Given the description of an element on the screen output the (x, y) to click on. 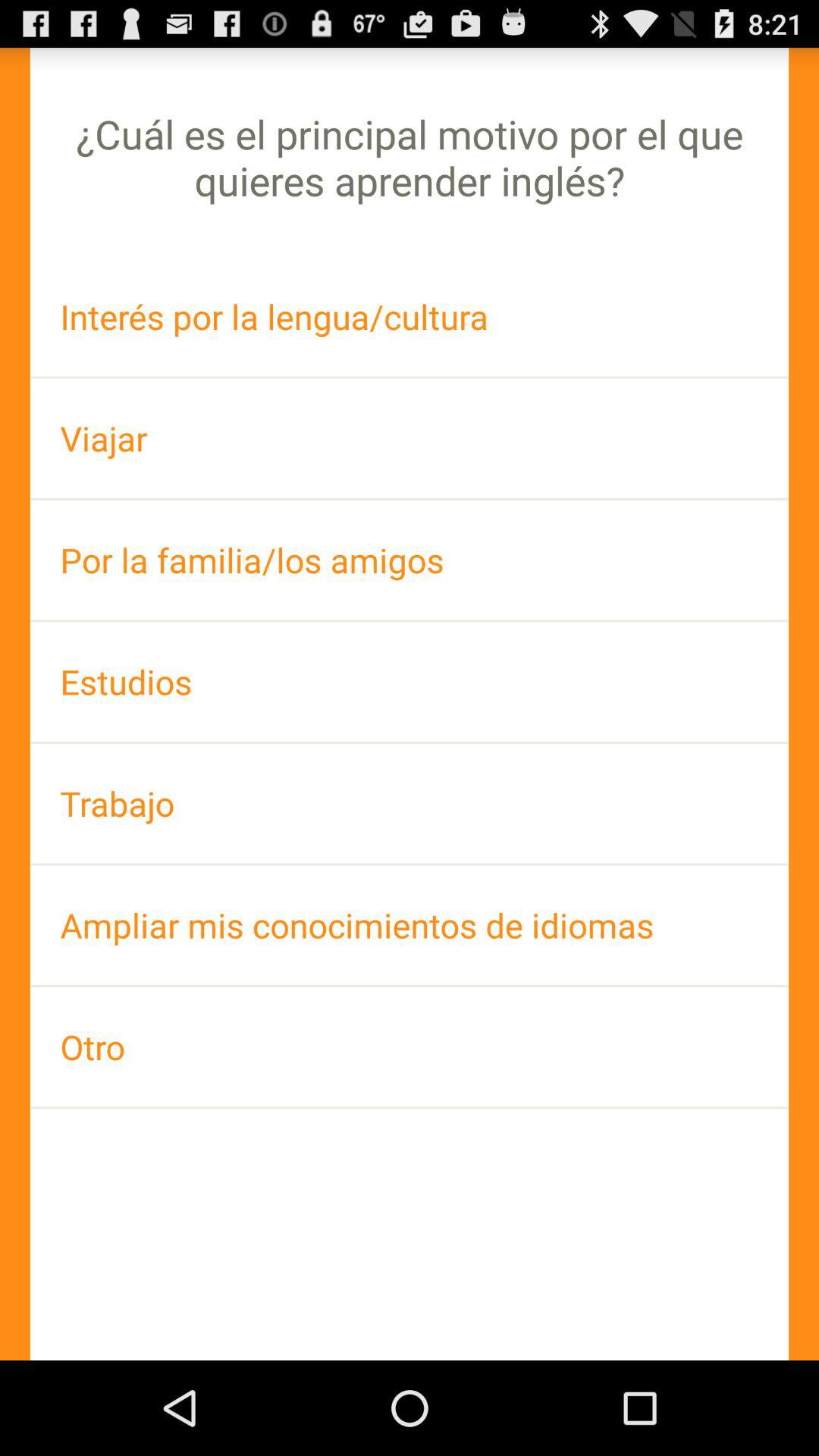
choose app above trabajo app (409, 681)
